Given the description of an element on the screen output the (x, y) to click on. 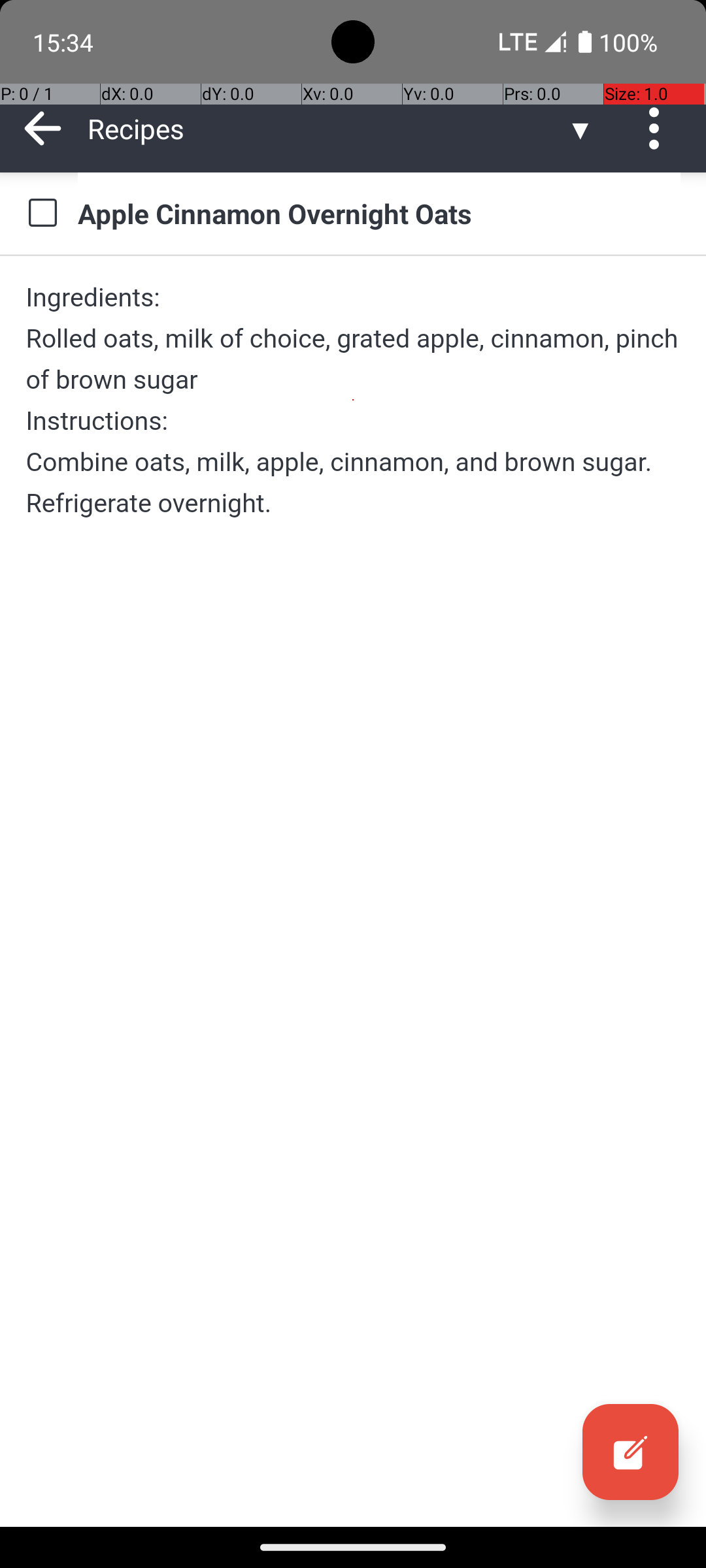
Apple Cinnamon Overnight Oats Element type: android.widget.EditText (378, 213)
Ingredients:
Rolled oats, milk of choice, grated apple, cinnamon, pinch of brown sugar
Instructions:
Combine oats, milk, apple, cinnamon, and brown sugar. Refrigerate overnight. Element type: android.widget.TextView (352, 399)
